Given the description of an element on the screen output the (x, y) to click on. 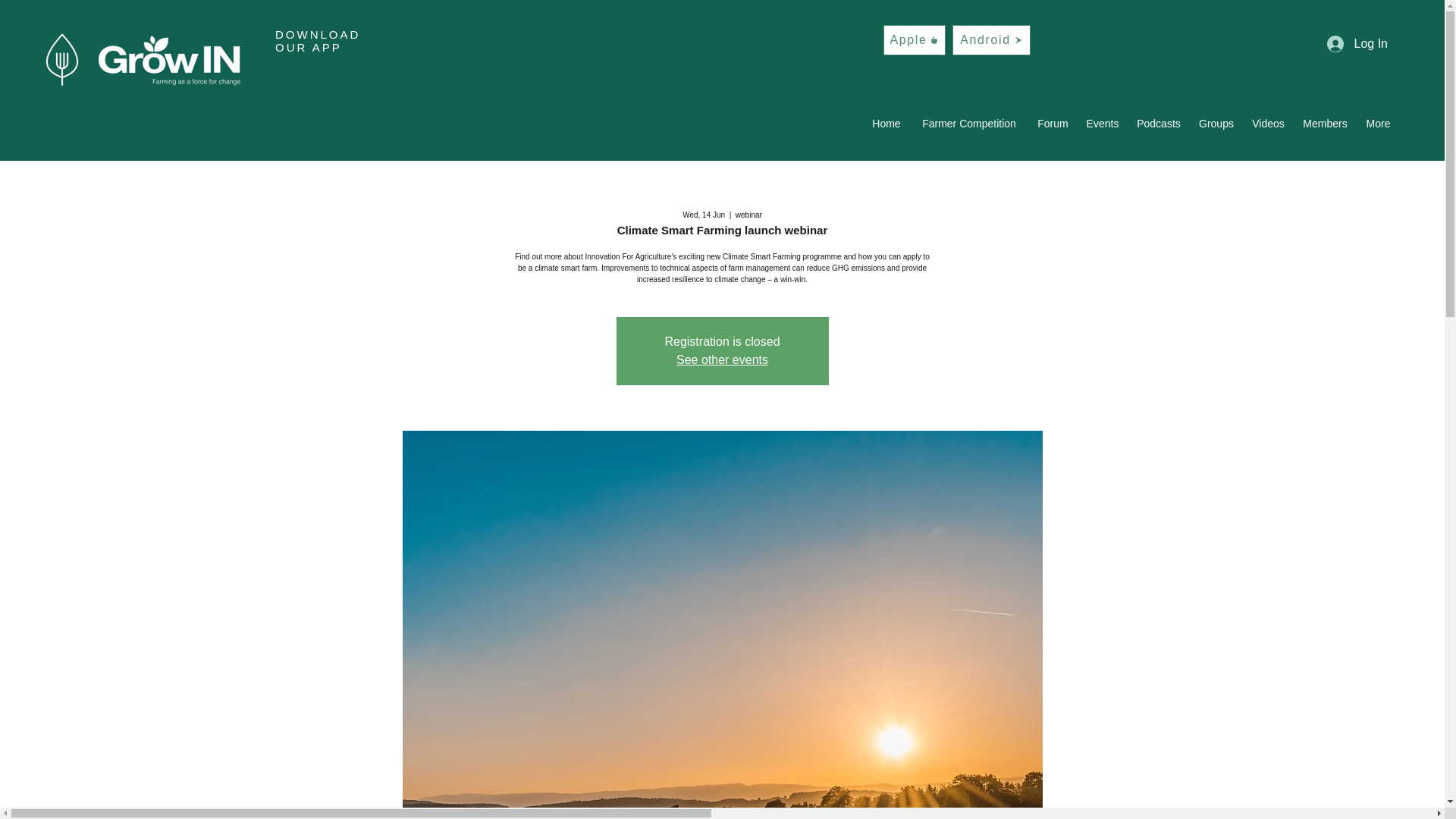
Members (1325, 123)
Log In (1356, 43)
Home (886, 123)
Events (1101, 123)
Videos (1268, 123)
Apple (913, 40)
See other events (722, 359)
Android (991, 40)
Groups (1216, 123)
Forum (1052, 123)
Podcasts (1157, 123)
Farmer Competition (968, 123)
